Given the description of an element on the screen output the (x, y) to click on. 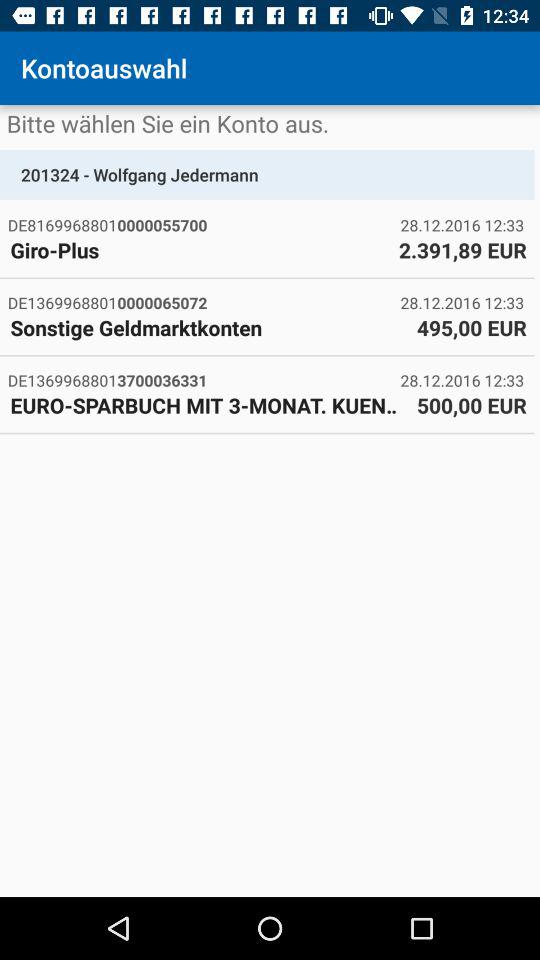
turn on the item below de81699688010000055700 (199, 249)
